Given the description of an element on the screen output the (x, y) to click on. 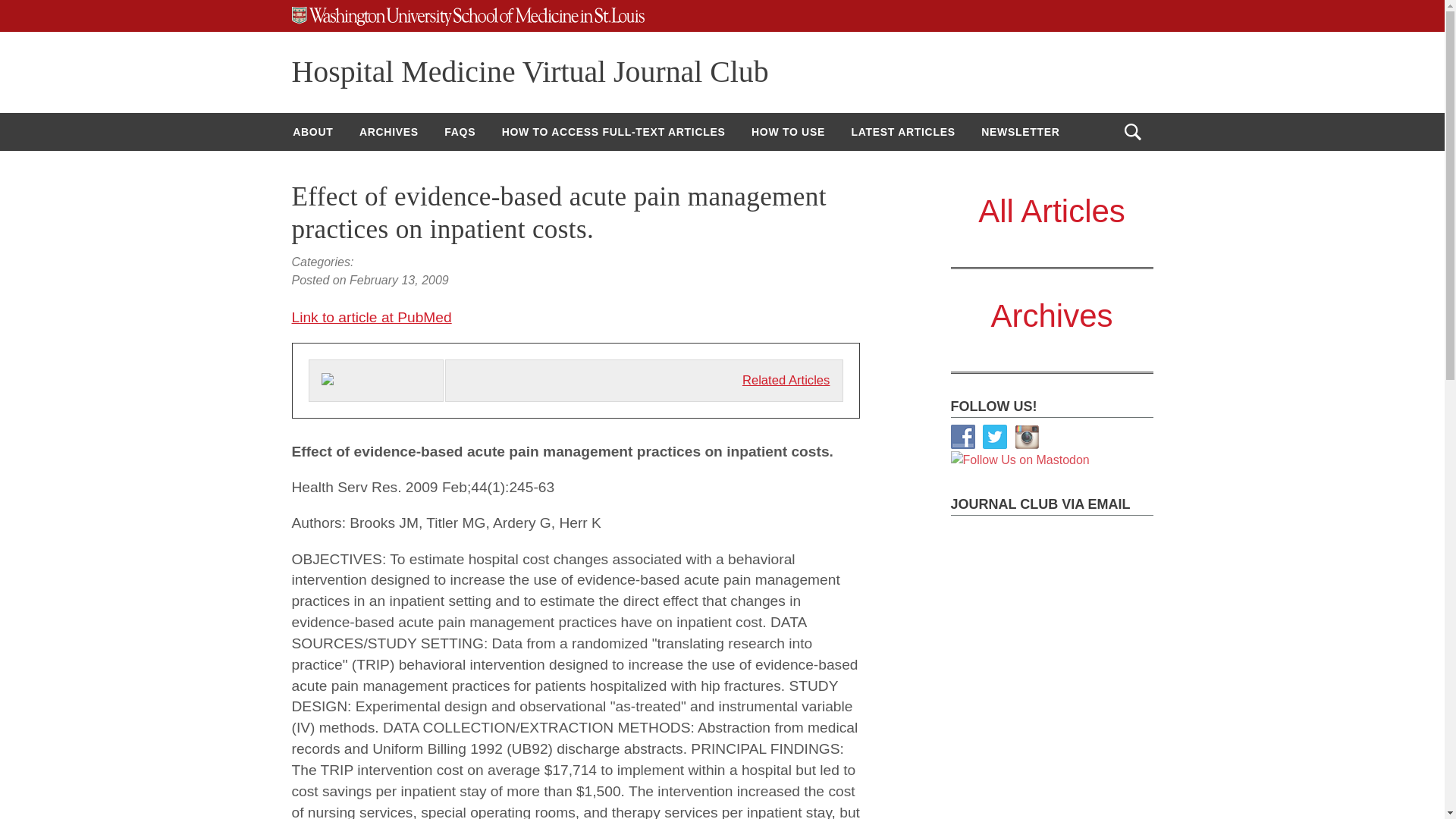
Related Articles (785, 380)
HOW TO ACCESS FULL-TEXT ARTICLES (613, 131)
FAQS (459, 131)
HOW TO USE (787, 131)
LATEST ARTICLES (903, 131)
ARCHIVES (388, 131)
Open Search (1132, 132)
Follow Us on Twitter (994, 436)
Link to article at PubMed (371, 317)
